Given the description of an element on the screen output the (x, y) to click on. 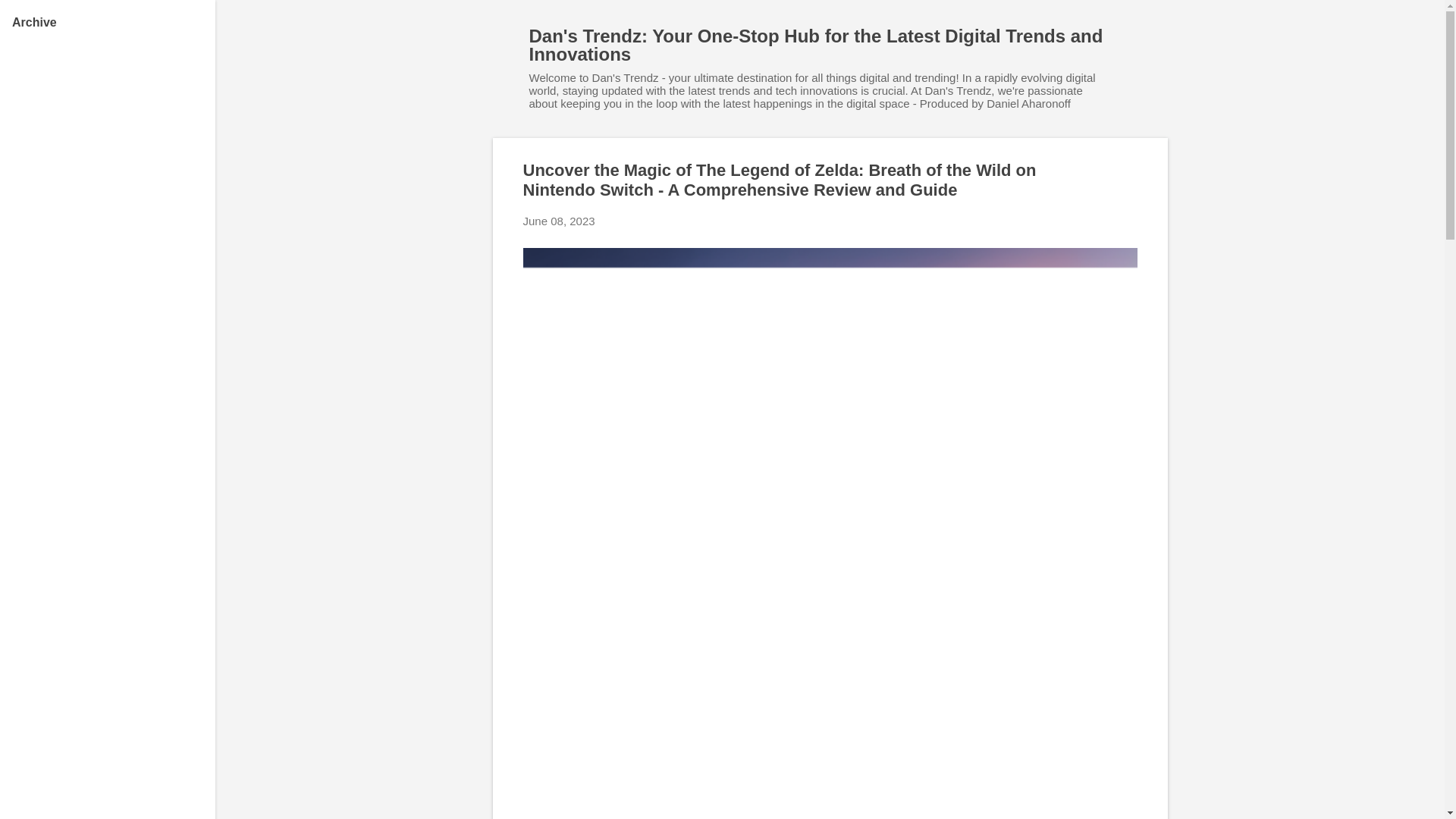
June 08, 2023 (558, 220)
permanent link (558, 220)
